Given the description of an element on the screen output the (x, y) to click on. 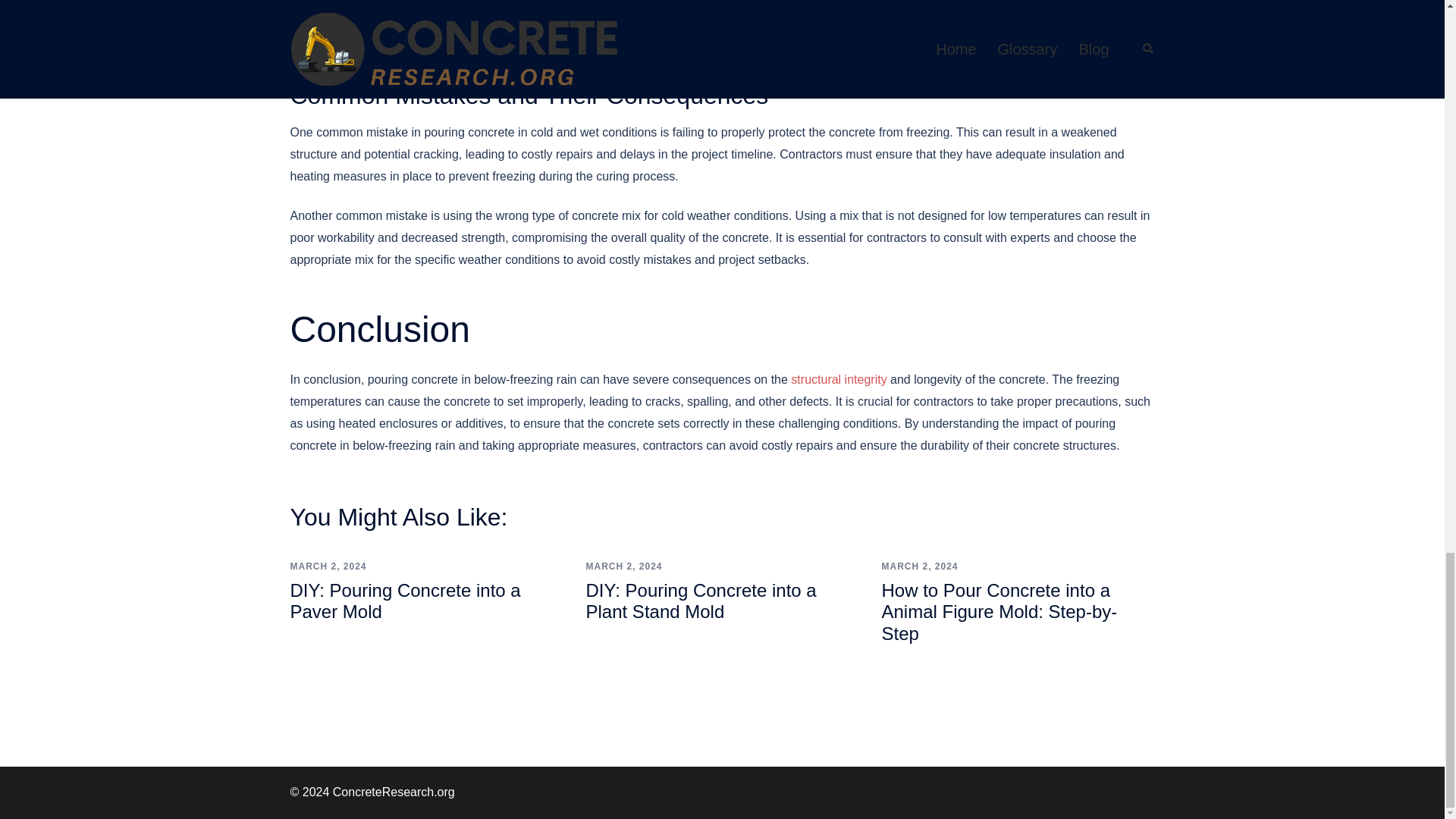
DIY: Pouring Concrete into a Plant Stand Mold (700, 600)
DIY: Pouring Concrete into a Paver Mold (404, 600)
structural integrity (838, 379)
MARCH 2, 2024 (623, 566)
structural integrity (838, 379)
MARCH 2, 2024 (327, 566)
How to Pour Concrete into a Animal Figure Mold: Step-by-Step (998, 611)
MARCH 2, 2024 (919, 566)
